Given the description of an element on the screen output the (x, y) to click on. 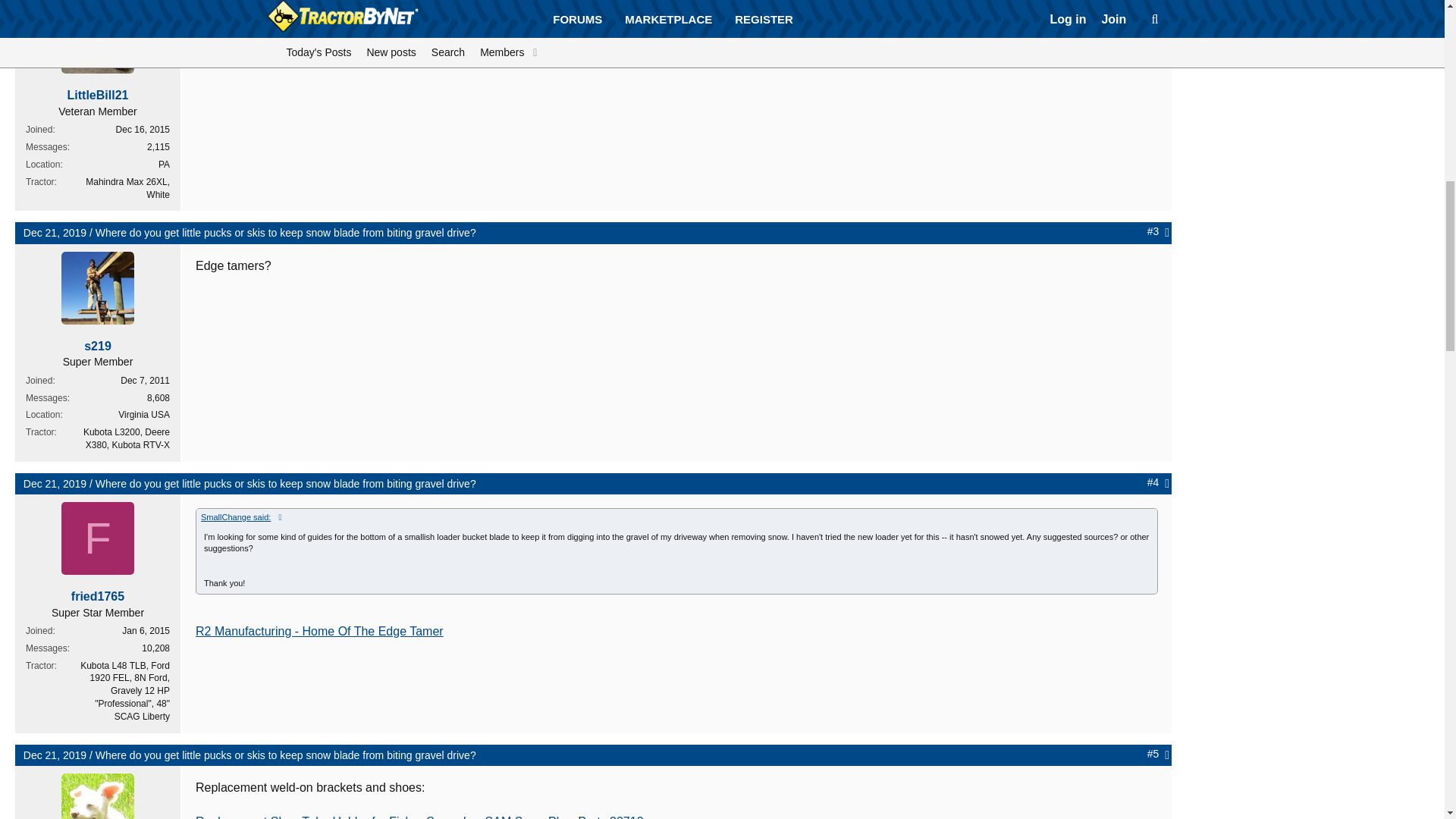
Dec 21, 2019 at 10:23 AM (54, 755)
Dec 21, 2019 at 9:18 AM (54, 232)
Dec 21, 2019 at 10:19 AM (54, 483)
